Given the description of an element on the screen output the (x, y) to click on. 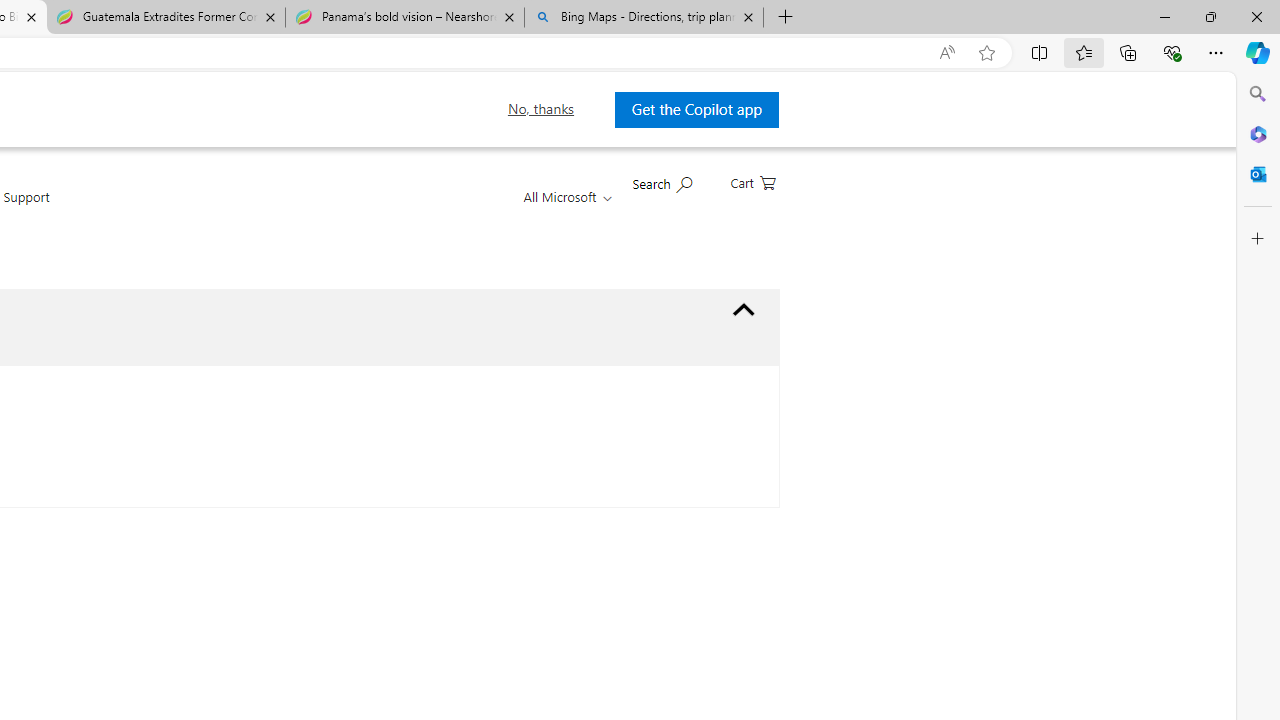
Outlook (1258, 174)
Customize (1258, 239)
Search Microsoft.com (662, 182)
0 items in shopping cart (752, 181)
What product are you reporting on? no option selected (744, 309)
